Given the description of an element on the screen output the (x, y) to click on. 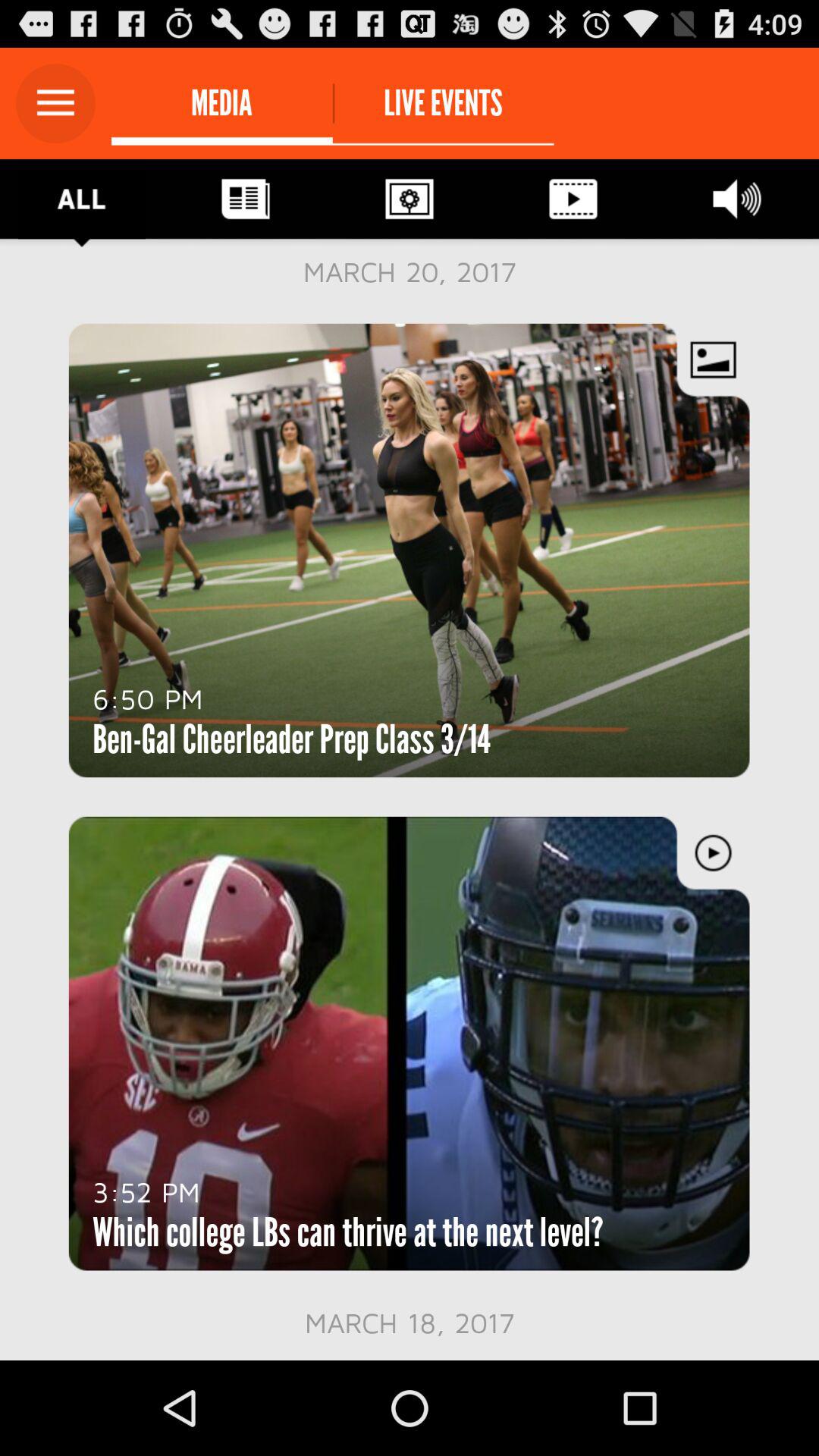
drop down menu for options (55, 103)
